Given the description of an element on the screen output the (x, y) to click on. 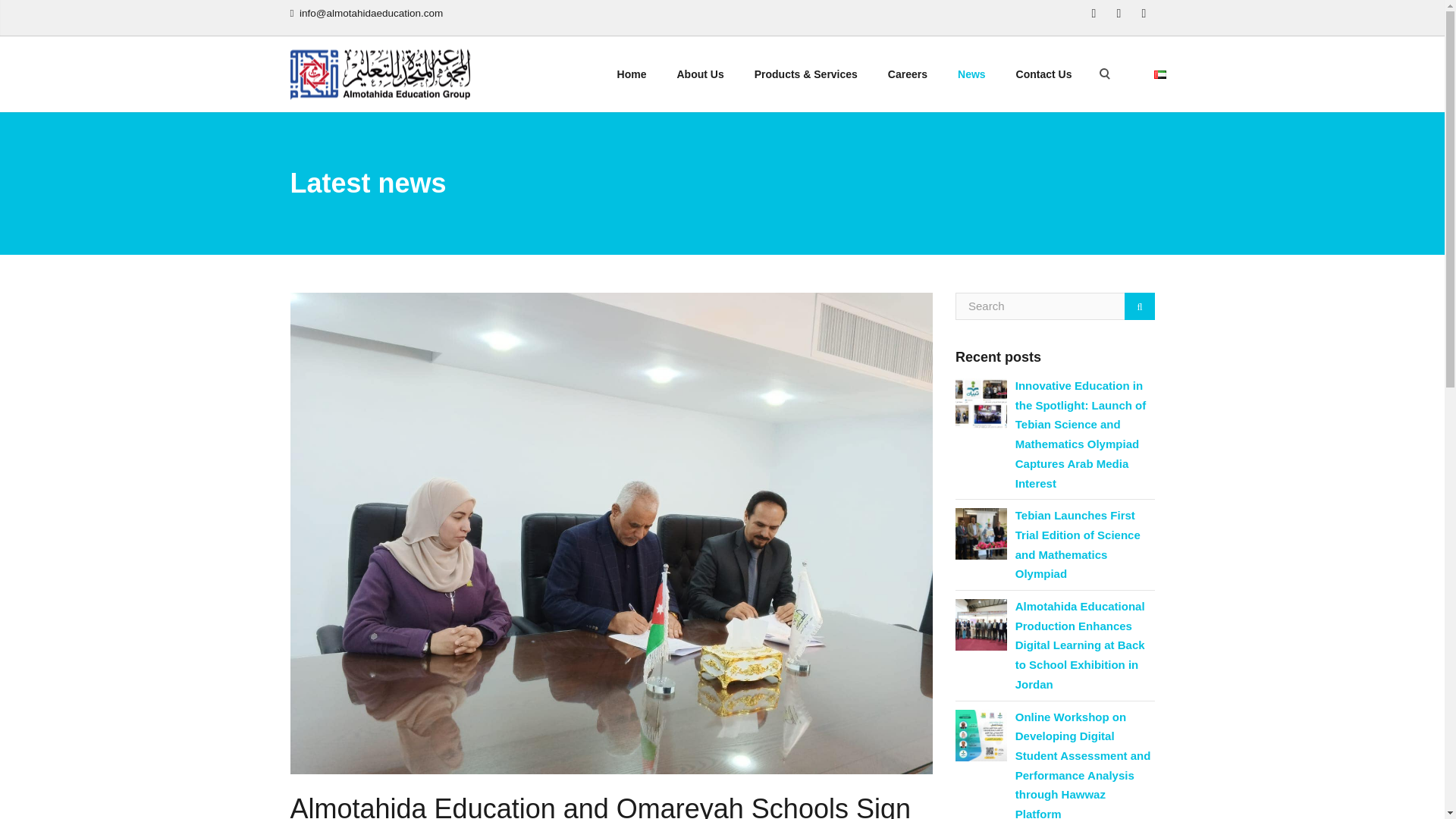
About Us (699, 74)
Contact Us (1044, 74)
Search (1139, 306)
